Given the description of an element on the screen output the (x, y) to click on. 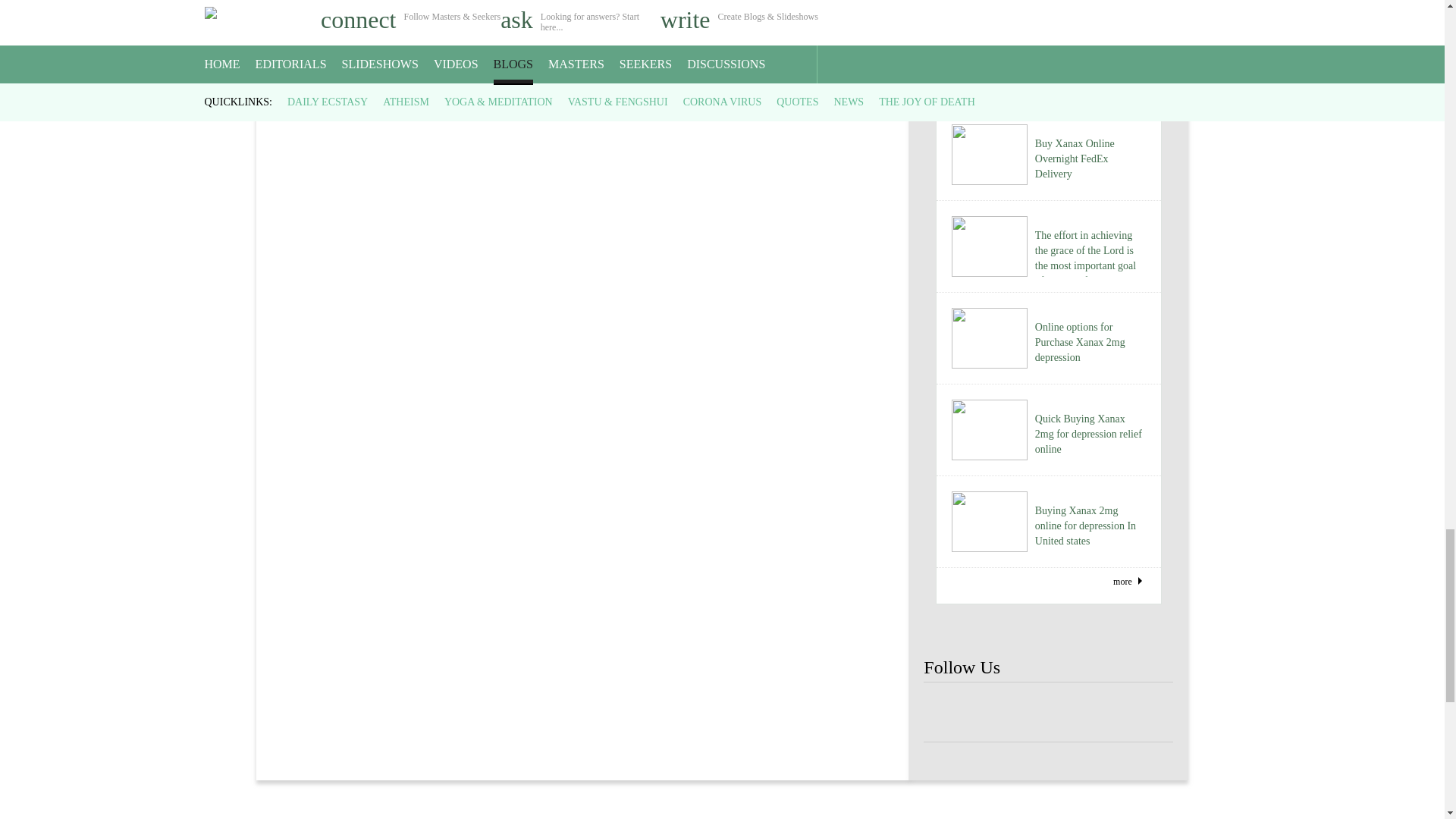
Speaking Tree FaceBook (1099, 712)
Speaking Tree FaceBook (998, 712)
Speaking Tree FaceBook (948, 712)
Speaking Tree FaceBook (1048, 712)
Speaking Tree FaceBook (1147, 712)
